Given the description of an element on the screen output the (x, y) to click on. 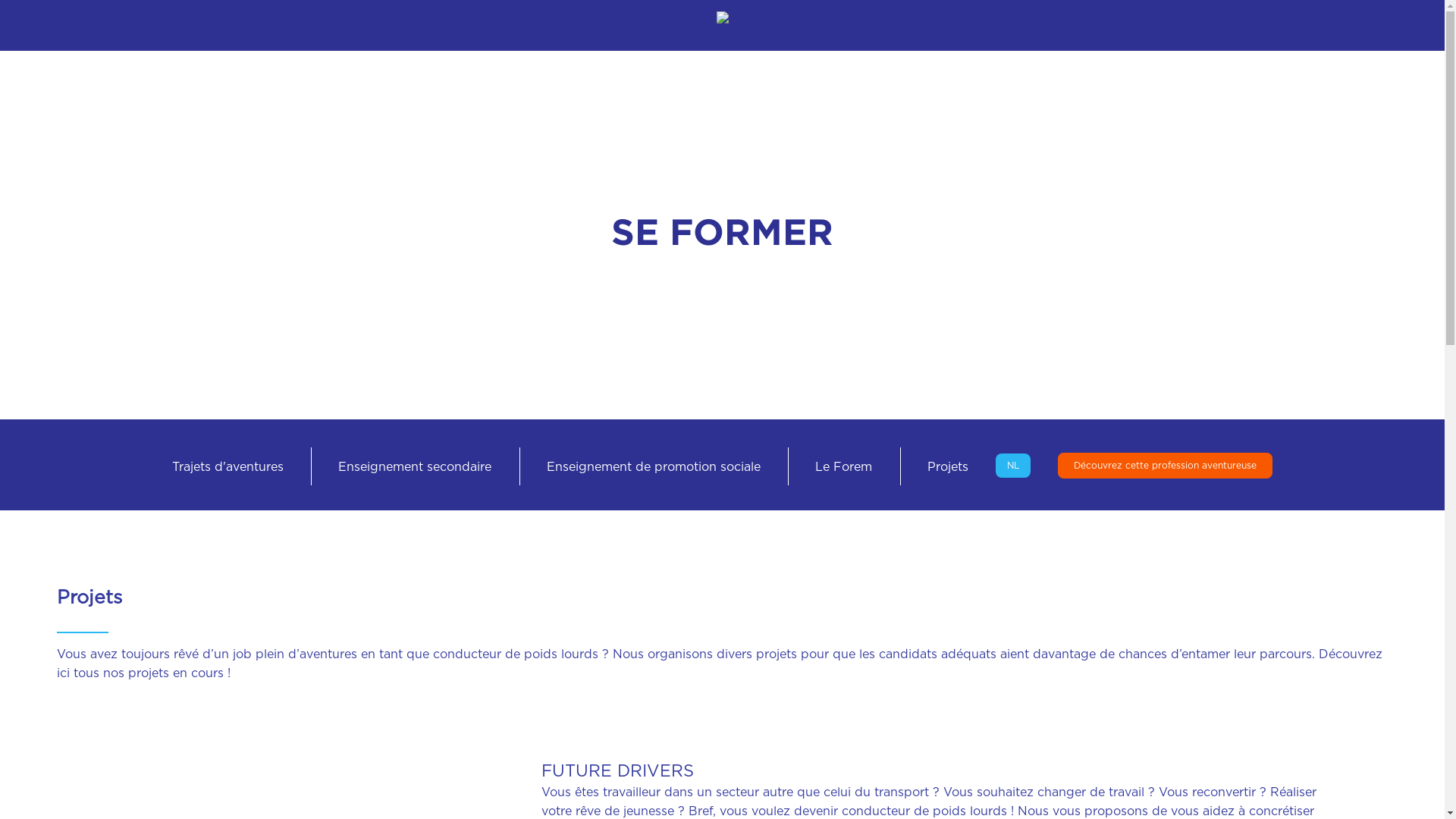
Trajets d'aventures Element type: text (227, 466)
Le Forem Element type: text (843, 466)
NL Element type: text (1012, 465)
Enseignement de promotion sociale Element type: text (653, 466)
Enseignement secondaire Element type: text (414, 466)
Projets Element type: text (947, 466)
